Given the description of an element on the screen output the (x, y) to click on. 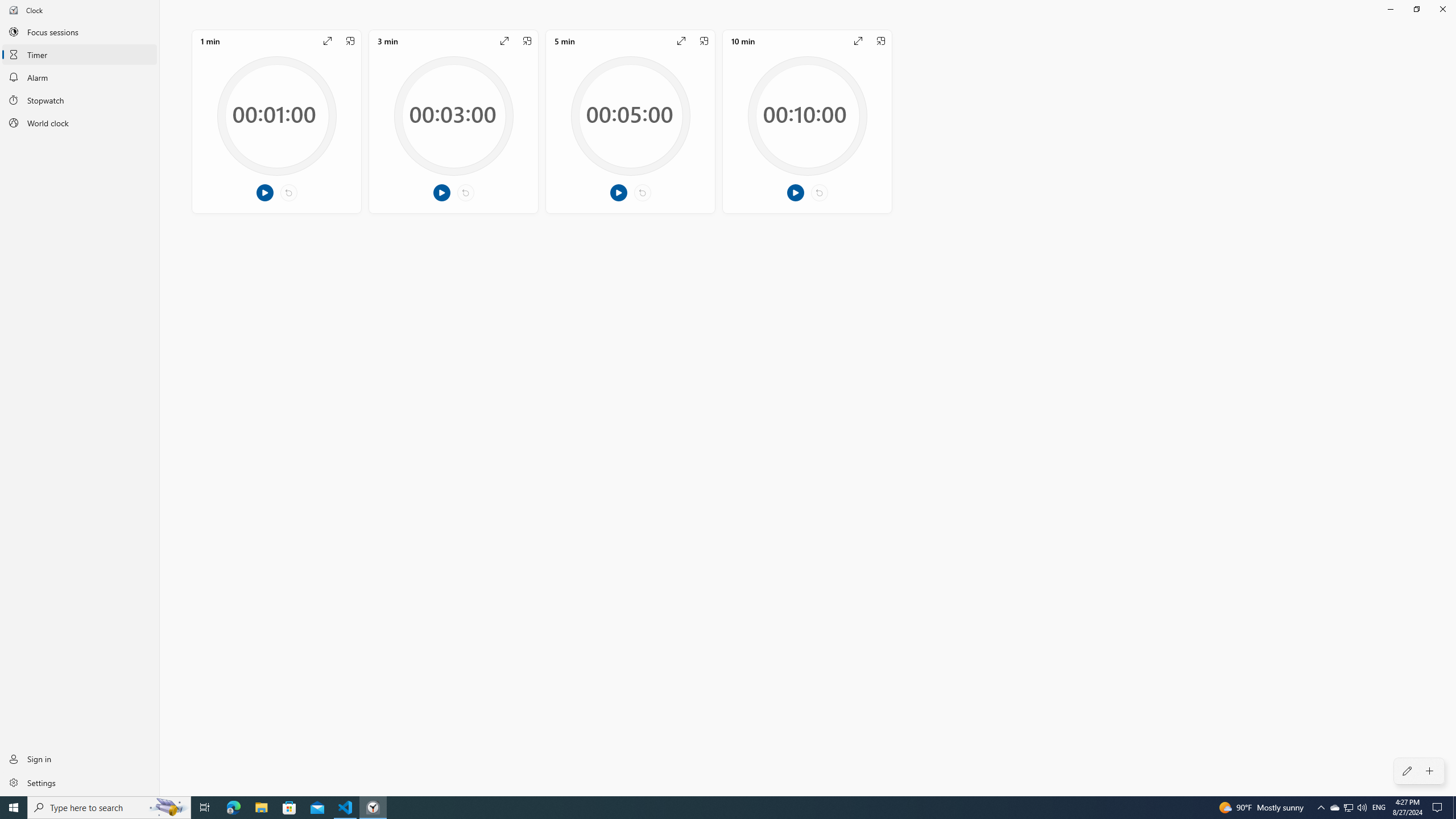
Edit timer, 1 min, Not Started, 1 minute 0 seconds (276, 121)
Clock - 1 running window (373, 807)
Edit timer, 5 min, Not Started, 5 minutes 0 seconds (630, 121)
Add new timer (1429, 770)
Reset (819, 192)
Minimize Clock (1390, 9)
Edit timer, 10 min, Not Started, 10 minutes 0 seconds (807, 121)
